Given the description of an element on the screen output the (x, y) to click on. 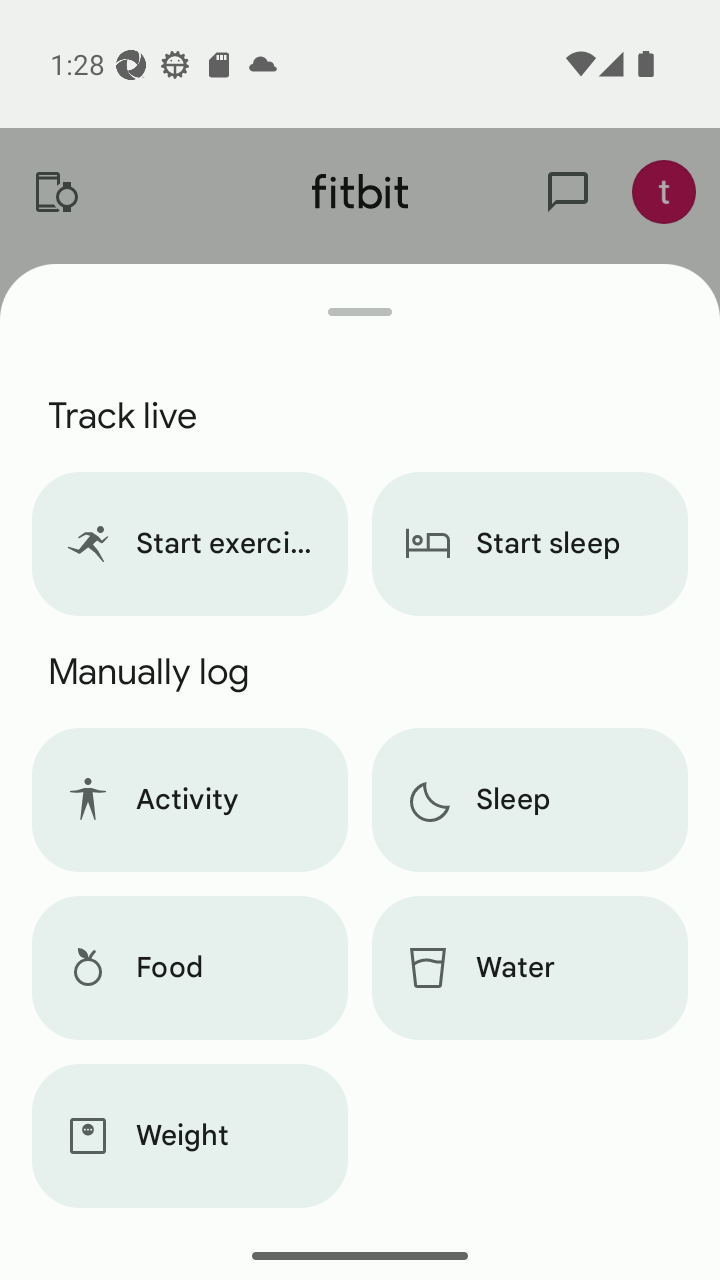
Start exercise (189, 543)
Start sleep (530, 543)
Activity (189, 799)
Sleep (530, 799)
Food (189, 967)
Water (530, 967)
Weight (189, 1135)
